Given the description of an element on the screen output the (x, y) to click on. 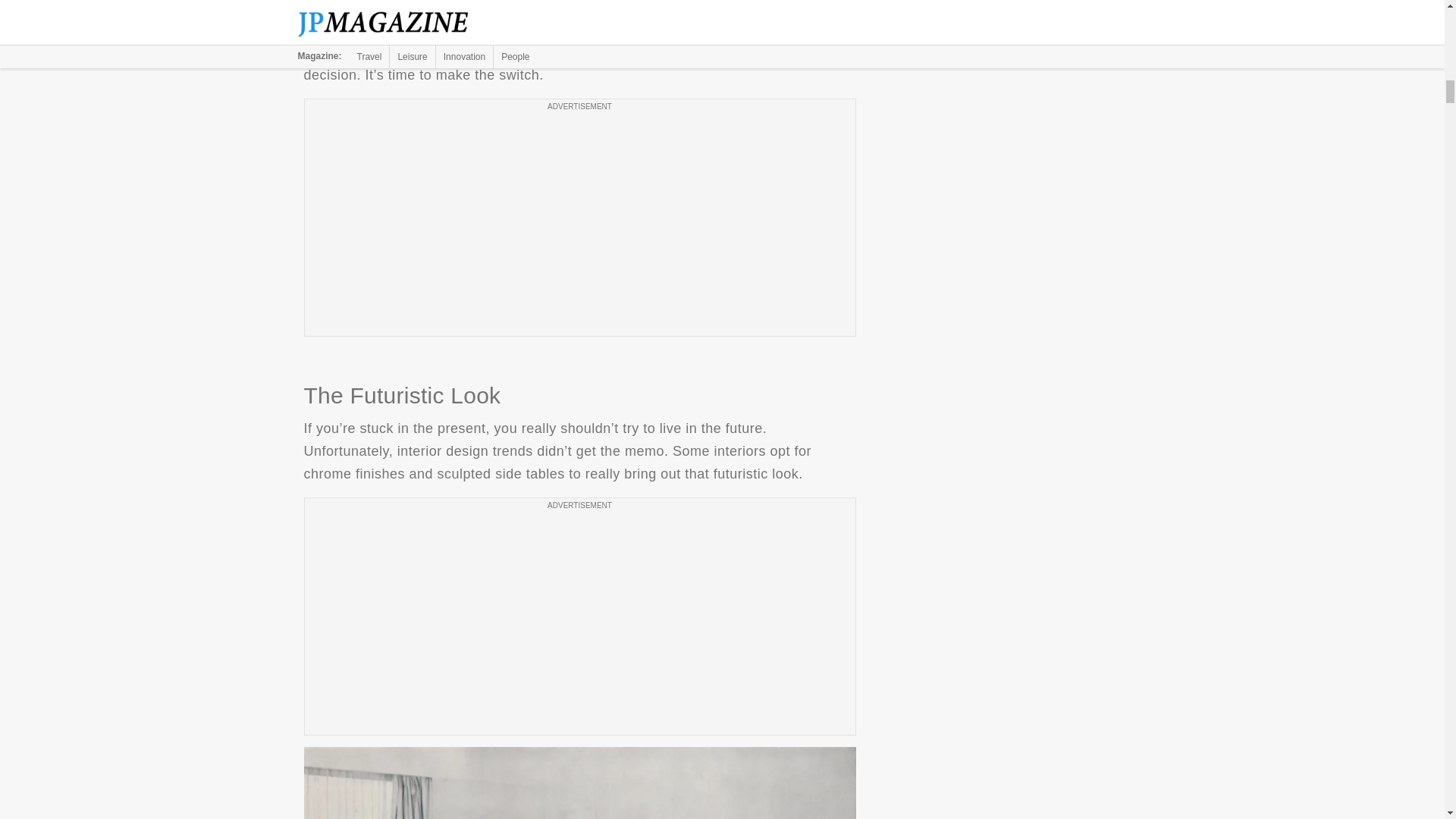
The Futuristic Look (579, 782)
